Given the description of an element on the screen output the (x, y) to click on. 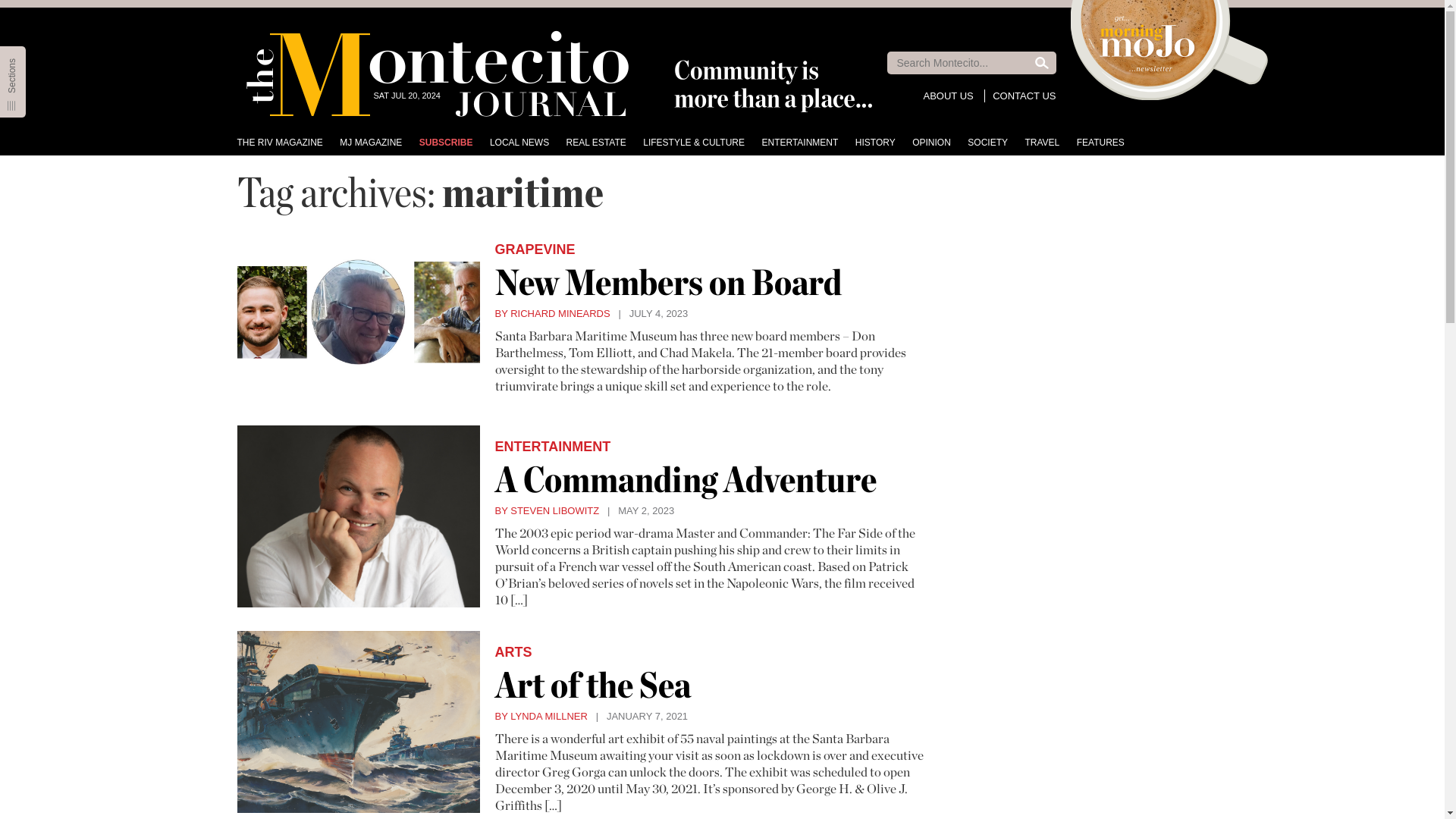
Lynda Millner (540, 715)
Richard Mineards (552, 313)
Steven Libowitz (546, 510)
